Given the description of an element on the screen output the (x, y) to click on. 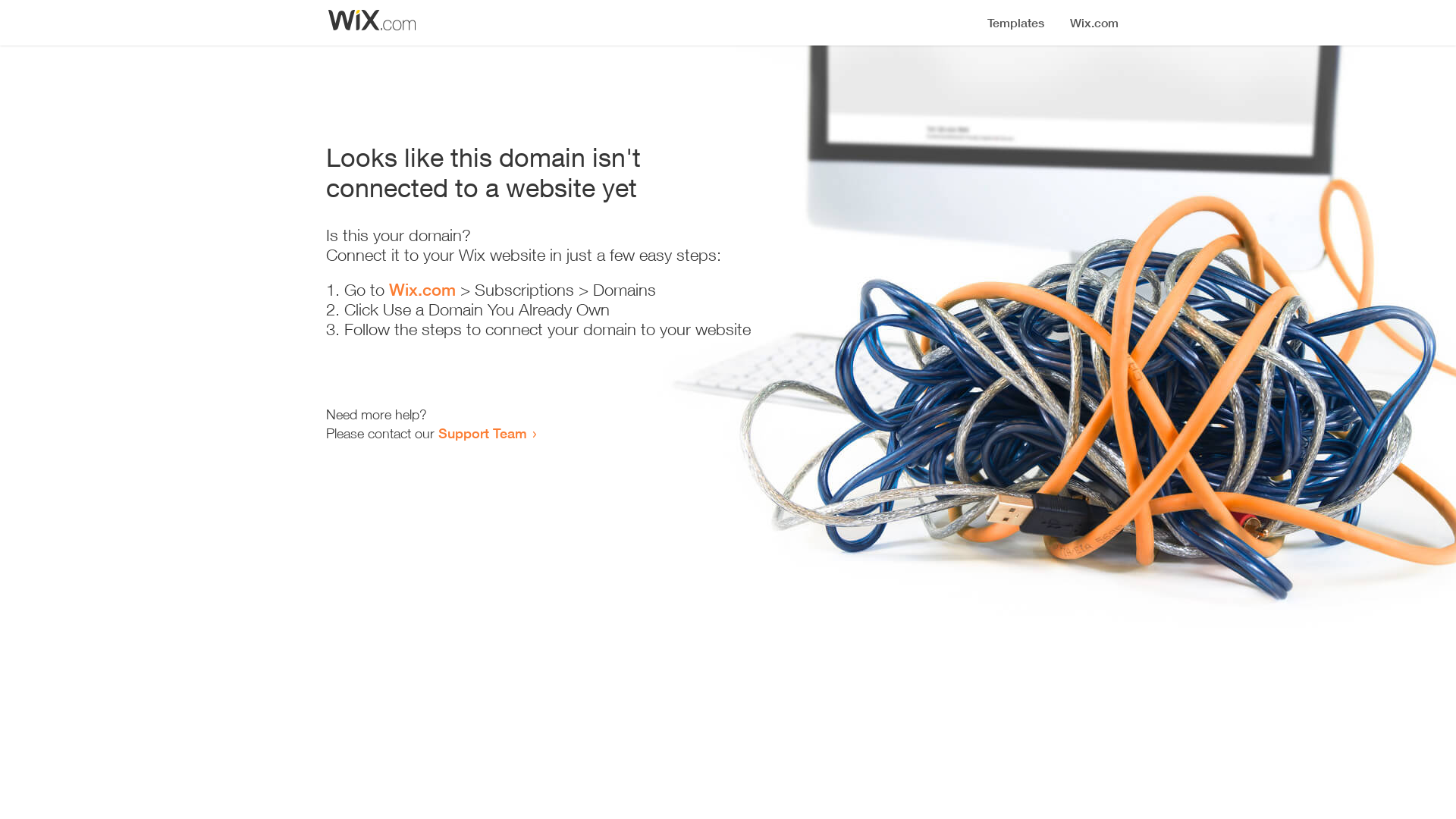
Wix.com Element type: text (422, 289)
Support Team Element type: text (482, 432)
